Given the description of an element on the screen output the (x, y) to click on. 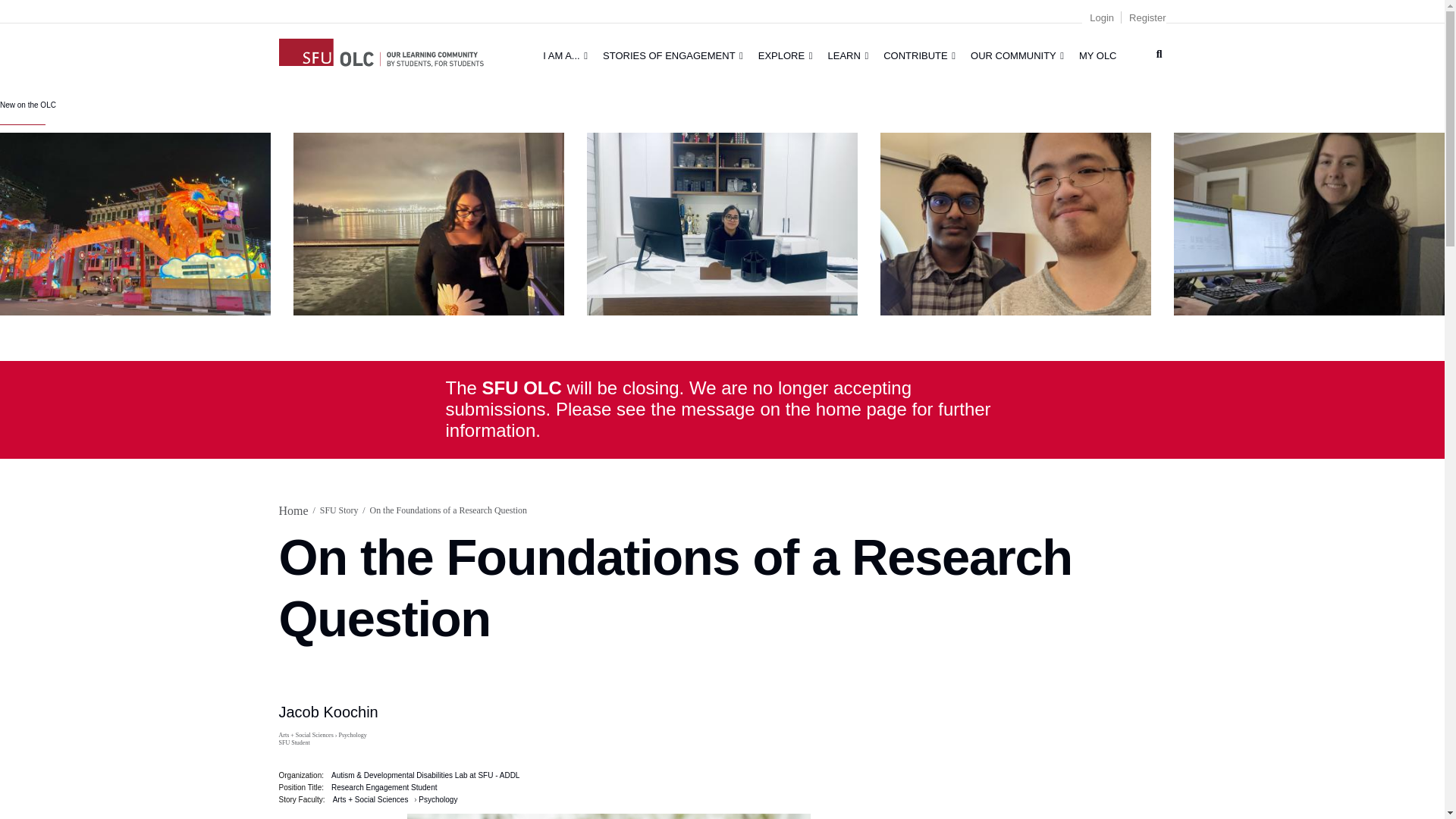
I AM A... (565, 55)
Working together on a project! (1015, 223)
Login (1101, 17)
Working From My At-Home Office (1308, 223)
Register (1147, 17)
OUR COMMUNITY (1016, 55)
STORIES OF ENGAGEMENT (673, 55)
LEARN (848, 55)
CONTRIBUTE (919, 55)
Chinatown (135, 223)
Taken by Kamaljeet Kular  (721, 223)
EXPLORE (786, 55)
Home (381, 50)
